Given the description of an element on the screen output the (x, y) to click on. 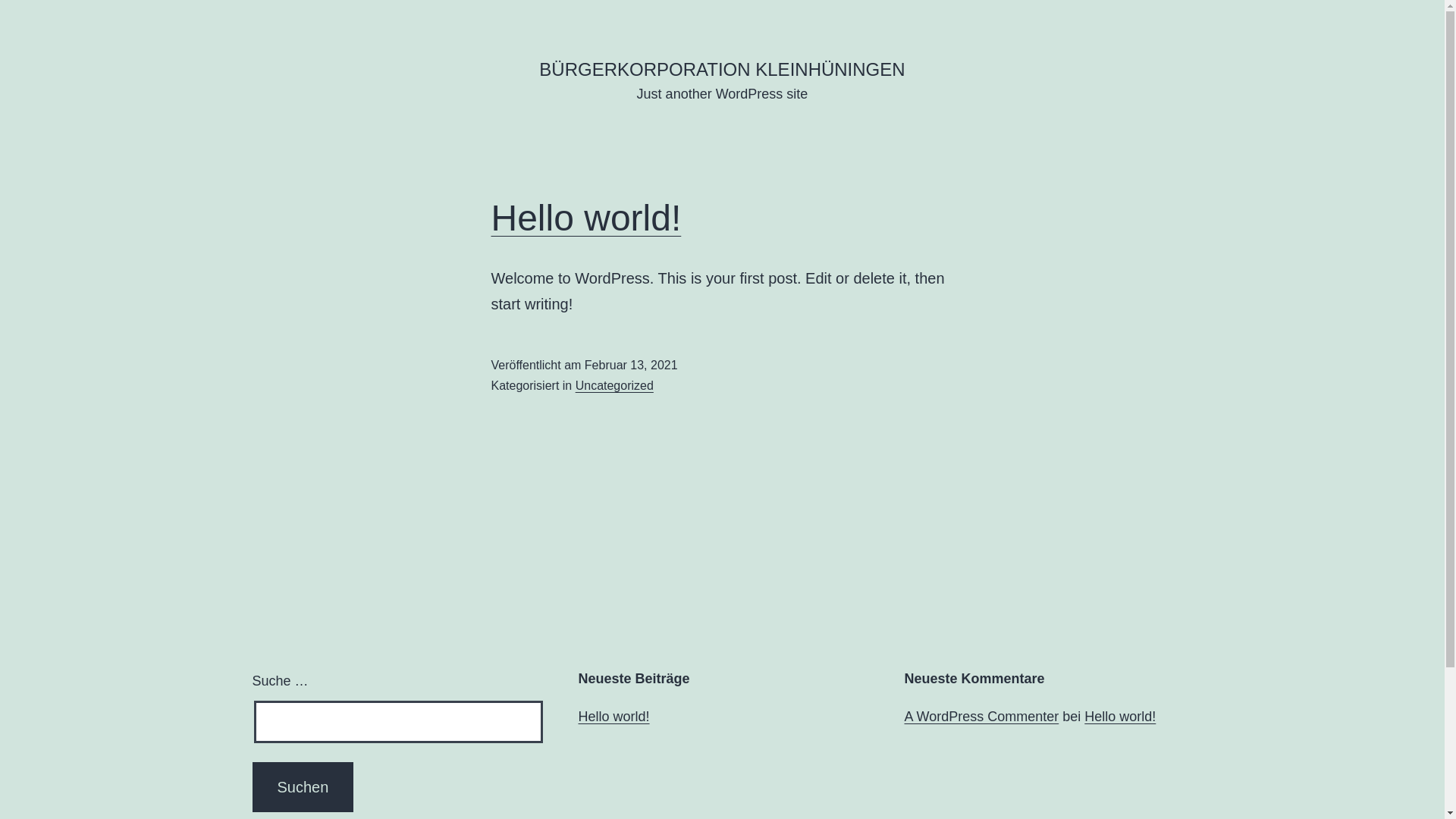
Hello world! Element type: text (1119, 716)
A WordPress Commenter Element type: text (980, 716)
Hello world! Element type: text (586, 217)
Uncategorized Element type: text (614, 385)
Suchen Element type: text (302, 787)
Hello world! Element type: text (613, 716)
